Given the description of an element on the screen output the (x, y) to click on. 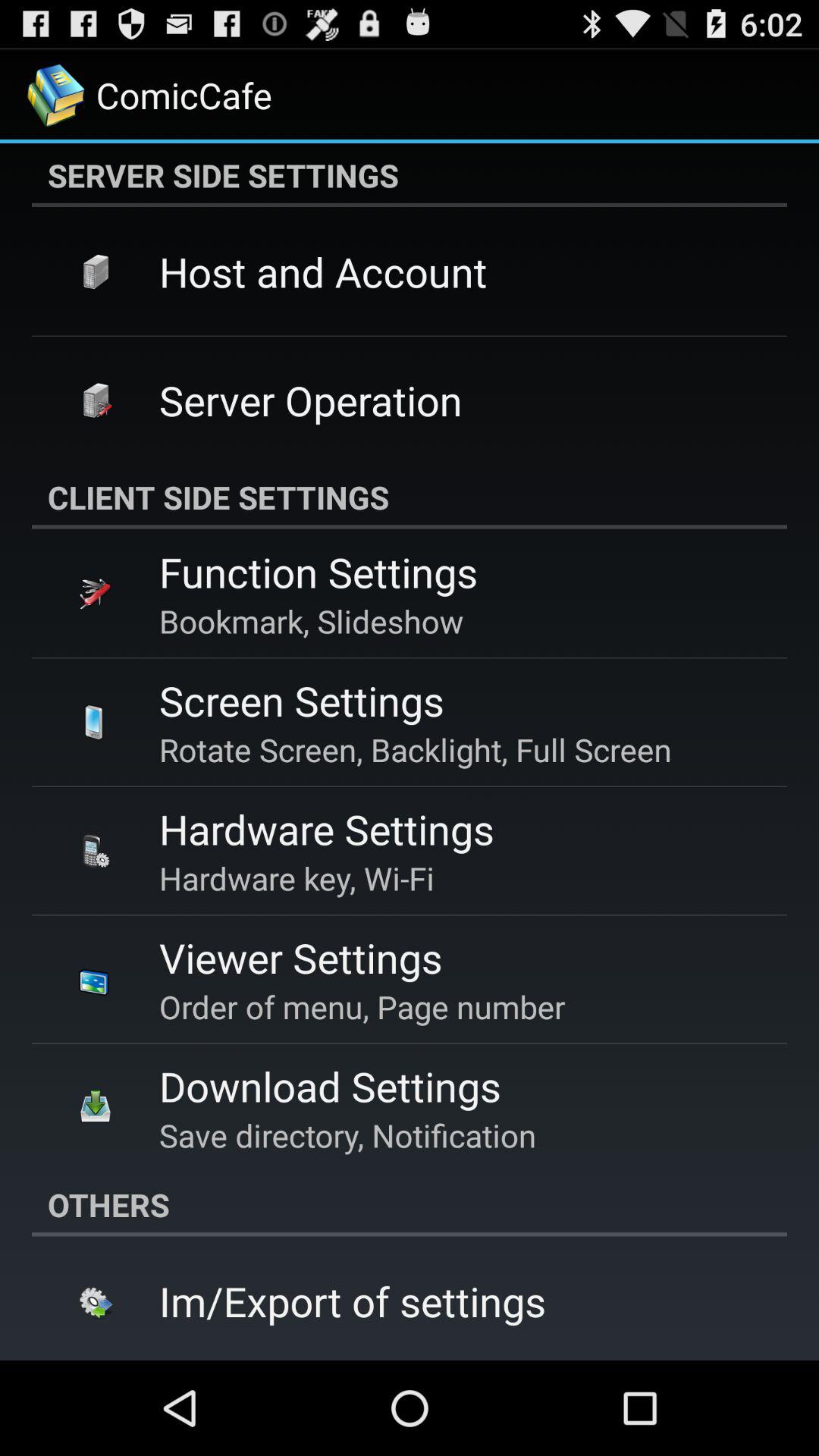
turn on icon above screen settings (311, 620)
